Given the description of an element on the screen output the (x, y) to click on. 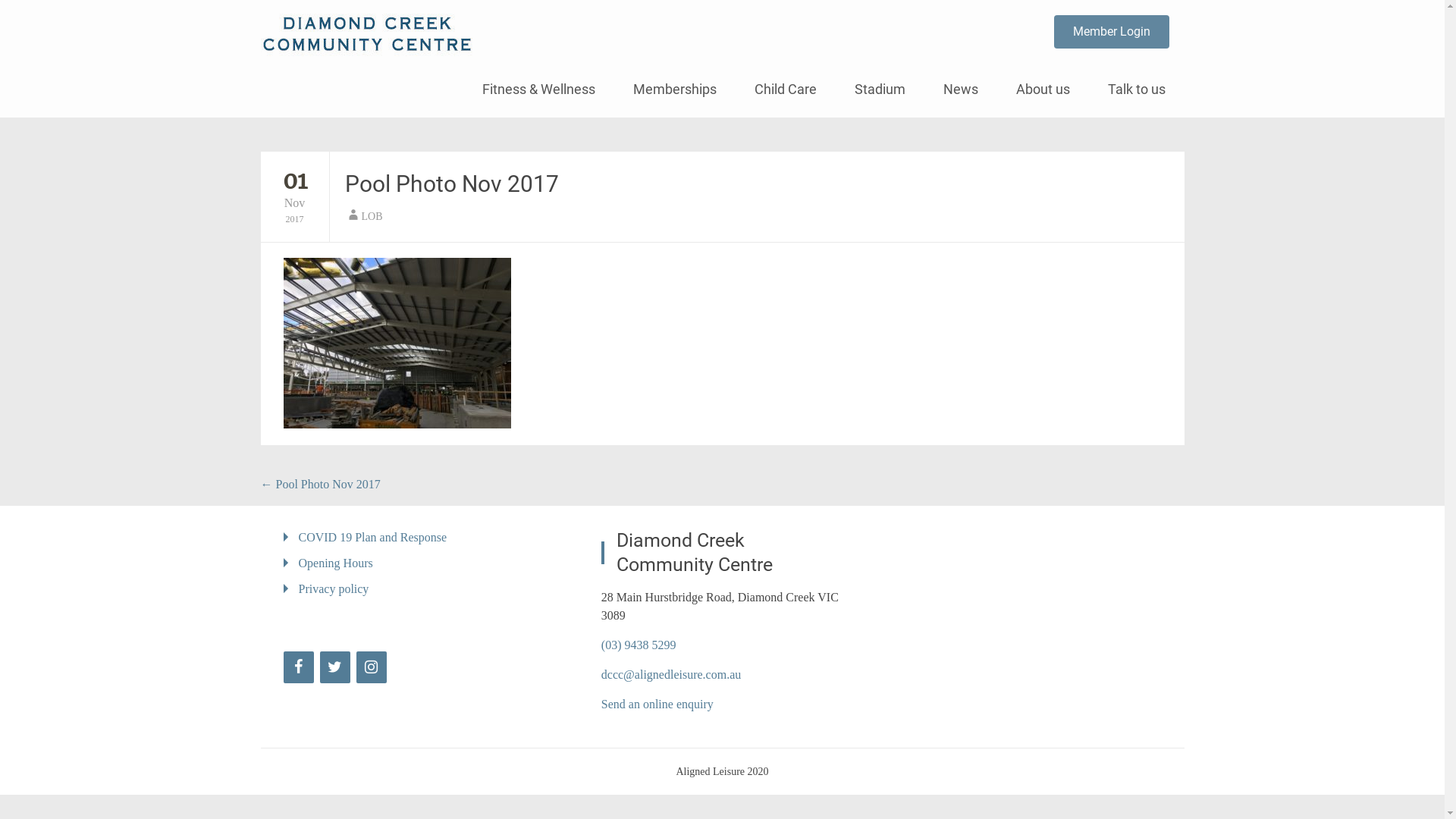
Child Care Element type: text (785, 89)
dccc@alignedleisure.com.au Element type: text (670, 674)
Skip to content Element type: text (481, 68)
Pool Photo Nov 2017 Element type: text (451, 183)
Send an online enquiry Element type: text (657, 703)
Memberships Element type: text (674, 89)
LOB Element type: text (371, 216)
Fitness & Wellness Element type: text (537, 89)
01
Nov
2017 Element type: text (294, 195)
COVID 19 Plan and Response Element type: text (372, 536)
Privacy policy Element type: text (333, 588)
Talk to us Element type: text (1136, 89)
Stadium Element type: text (879, 89)
About us Element type: text (1042, 89)
(03) 9438 5299 Element type: text (638, 644)
Member Login Element type: text (1111, 31)
News Element type: text (959, 89)
Diamond Creek Community Centre Element type: text (696, 29)
Opening Hours Element type: text (335, 562)
